Given the description of an element on the screen output the (x, y) to click on. 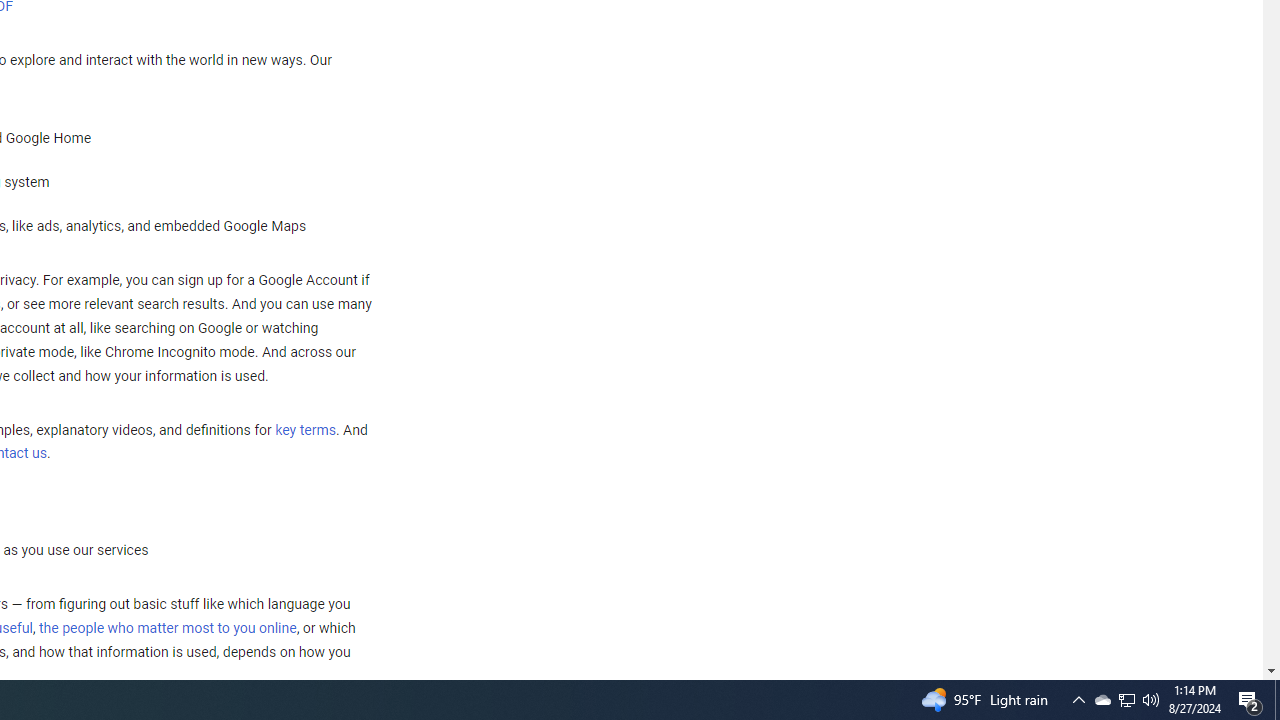
key terms (305, 430)
the people who matter most to you online (167, 628)
